Given the description of an element on the screen output the (x, y) to click on. 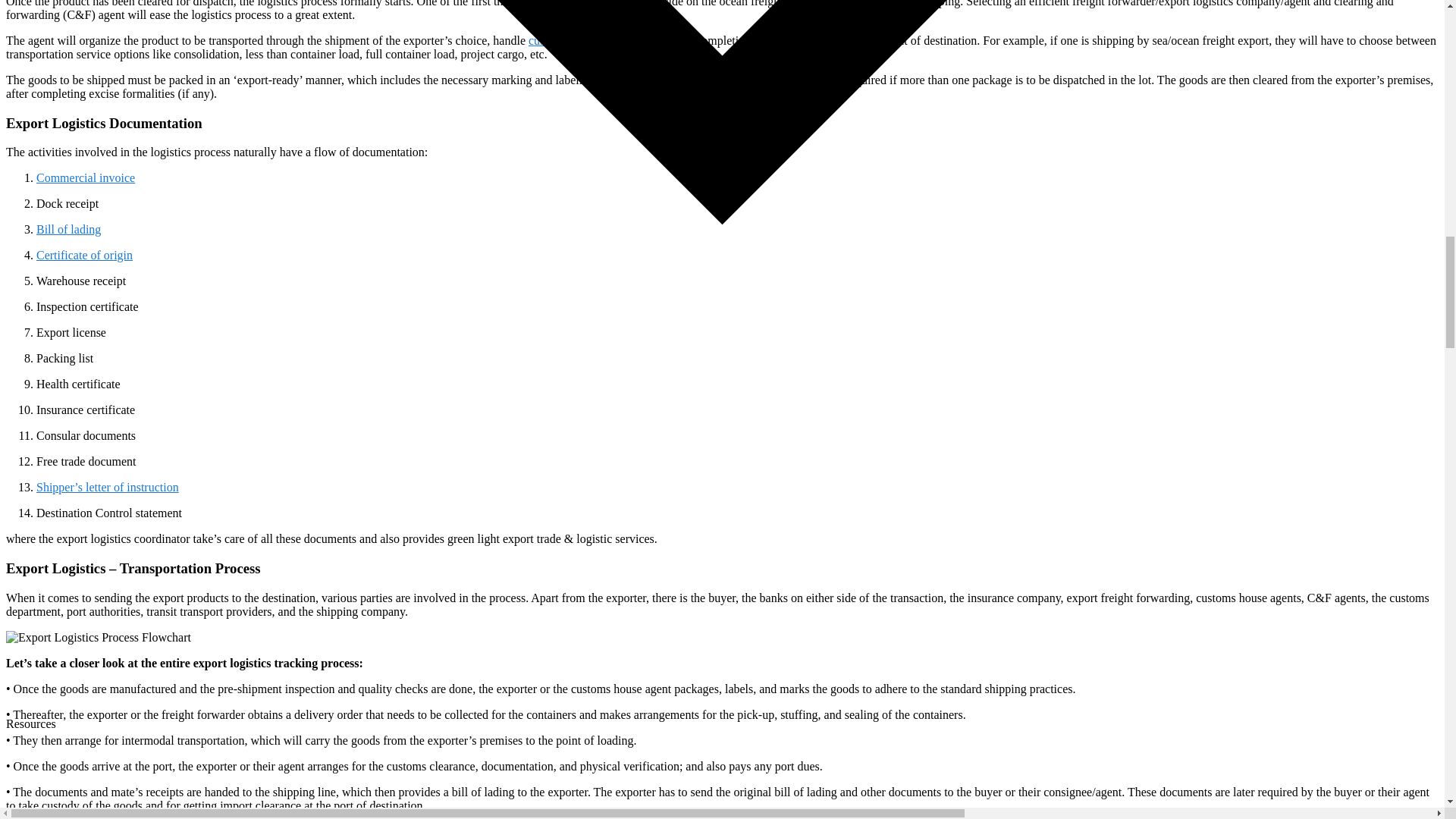
customs clearance (572, 40)
custom clearance process (572, 40)
bill of lading (68, 228)
Commercial invoice (85, 177)
certificate of origin (84, 254)
packing list (803, 79)
commercial invoice (85, 177)
Bill of lading (68, 228)
Certificate of origin (84, 254)
packing list (803, 79)
